Given the description of an element on the screen output the (x, y) to click on. 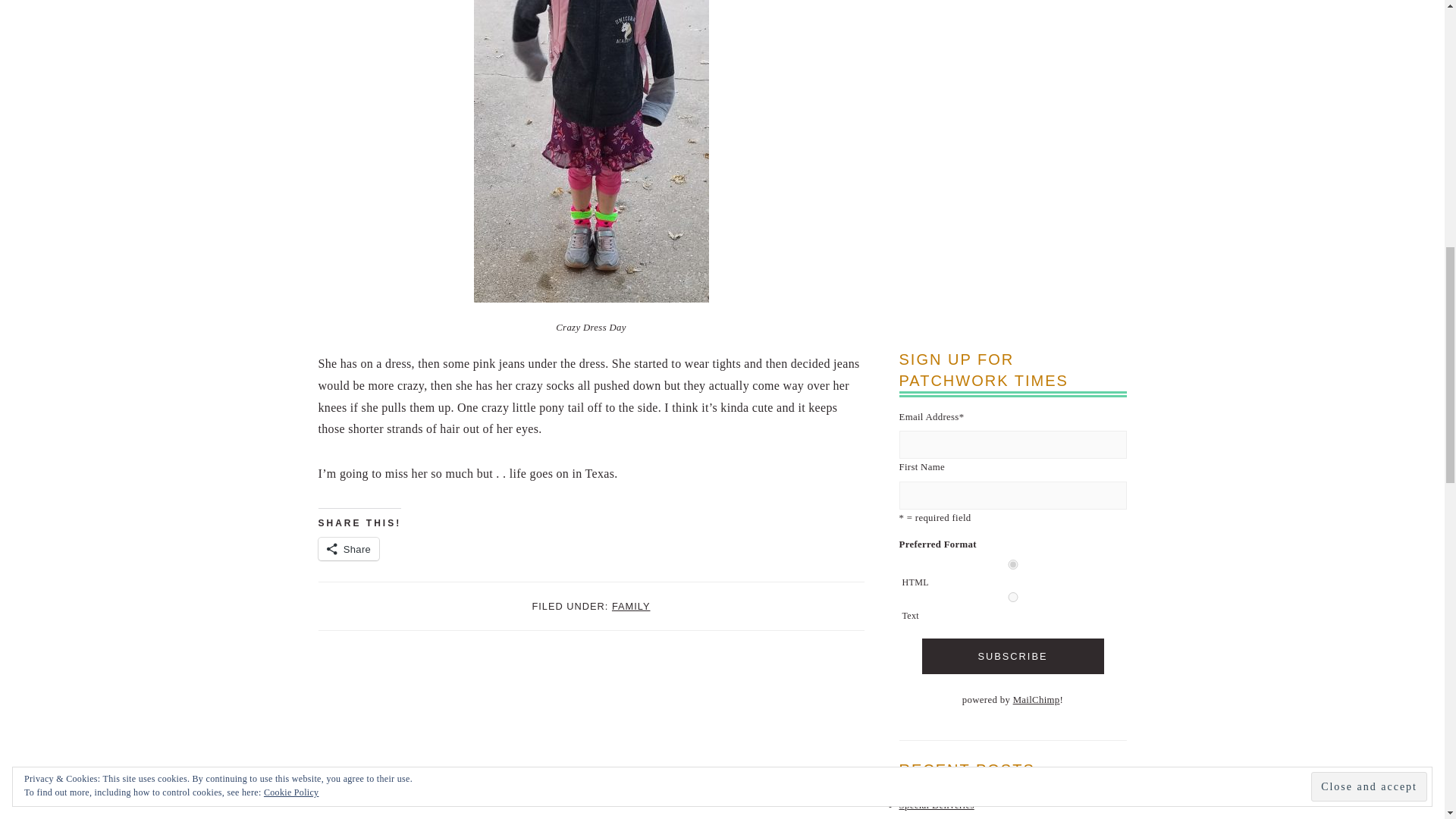
FAMILY (630, 605)
MailChimp (1036, 699)
Subscribe (1012, 656)
Share (349, 548)
Special Deliveries (936, 805)
Subscribe (1012, 656)
text (1012, 596)
html (1012, 564)
